Given the description of an element on the screen output the (x, y) to click on. 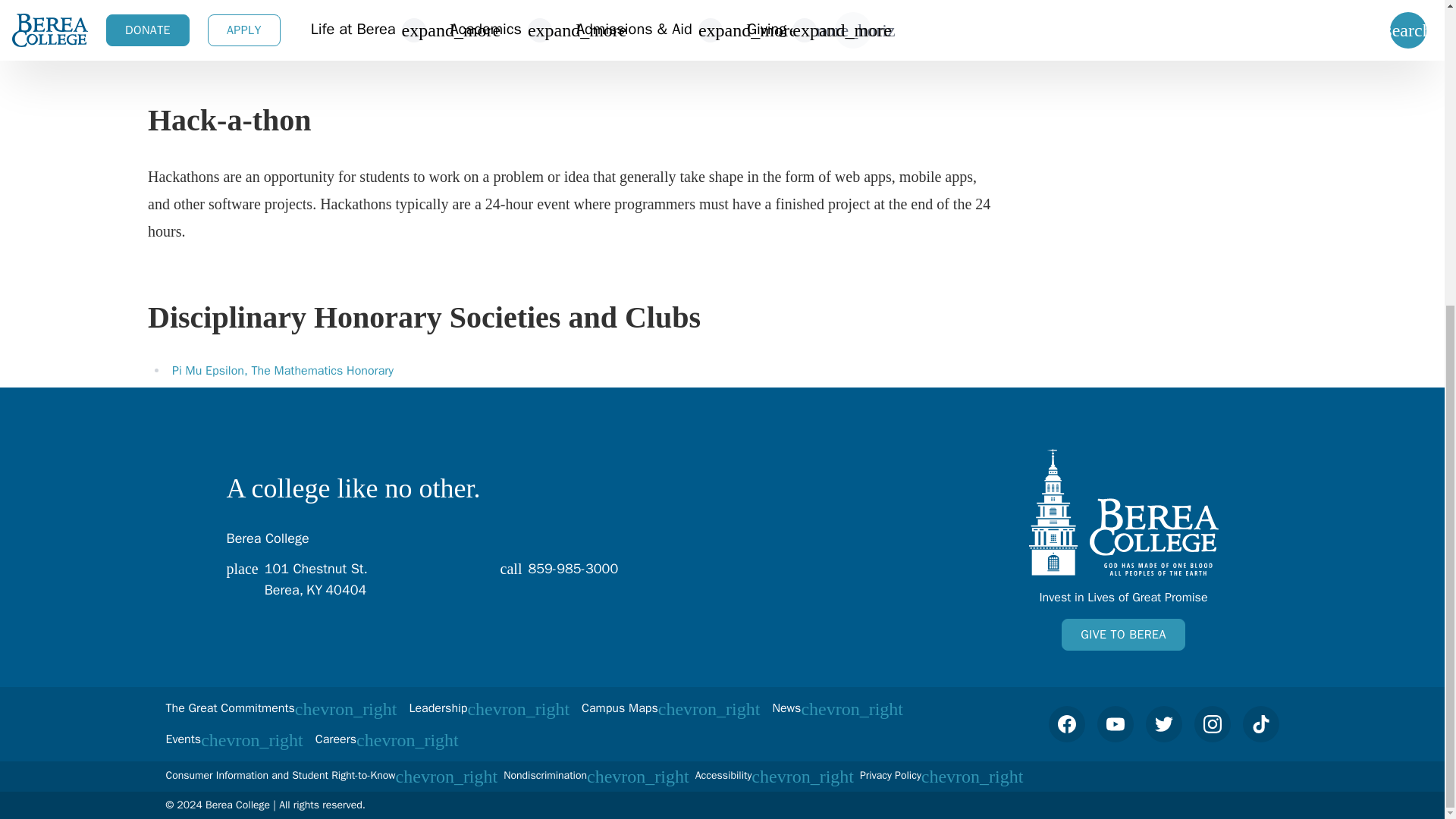
Berea - A college like no other (613, 577)
Pi Mu Epsilon, The Mathematics H (350, 577)
GIVE TO BEREA (1122, 511)
onorary (262, 370)
